Given the description of an element on the screen output the (x, y) to click on. 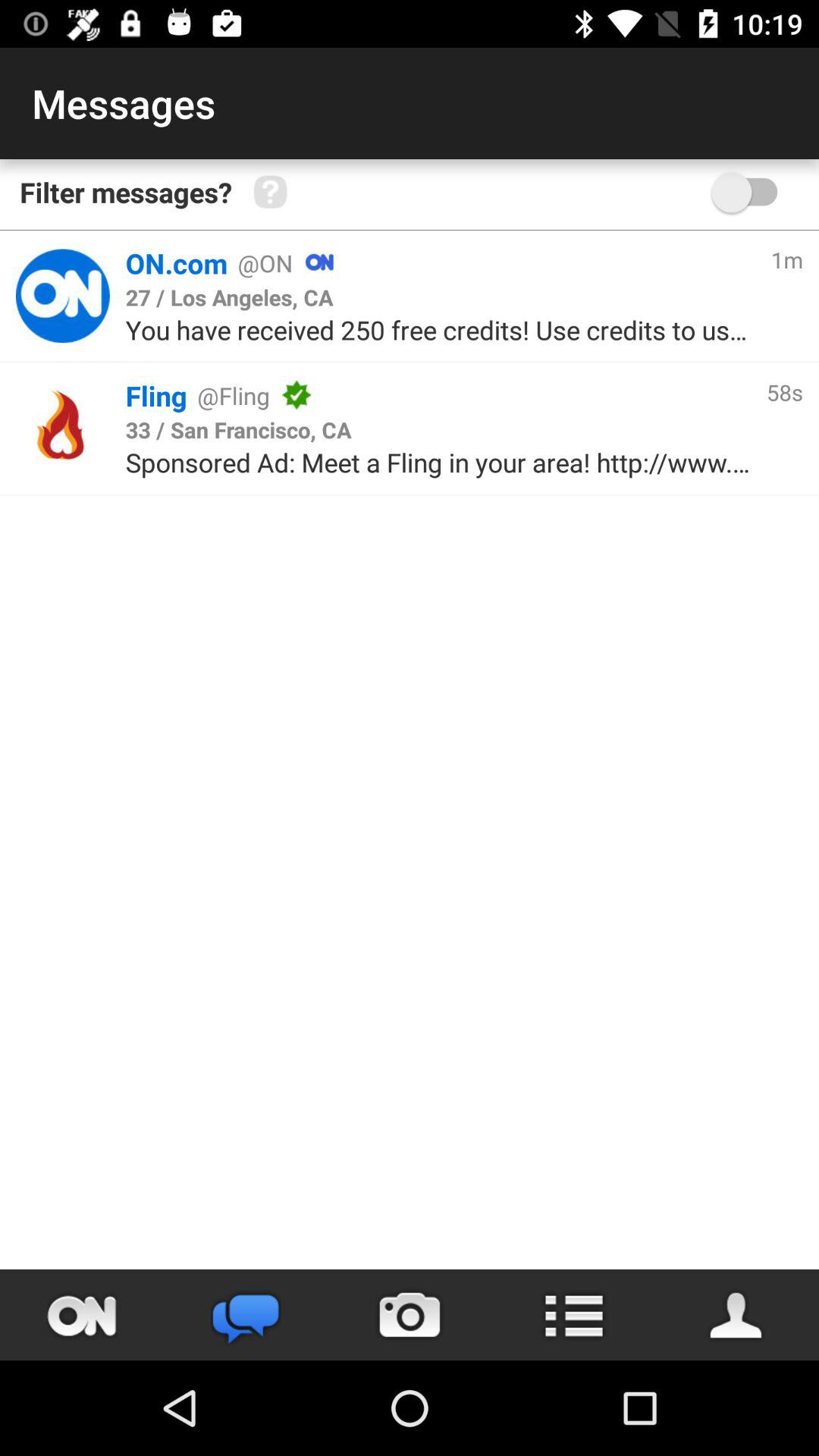
choose the icon above sponsored ad meet (238, 429)
